Given the description of an element on the screen output the (x, y) to click on. 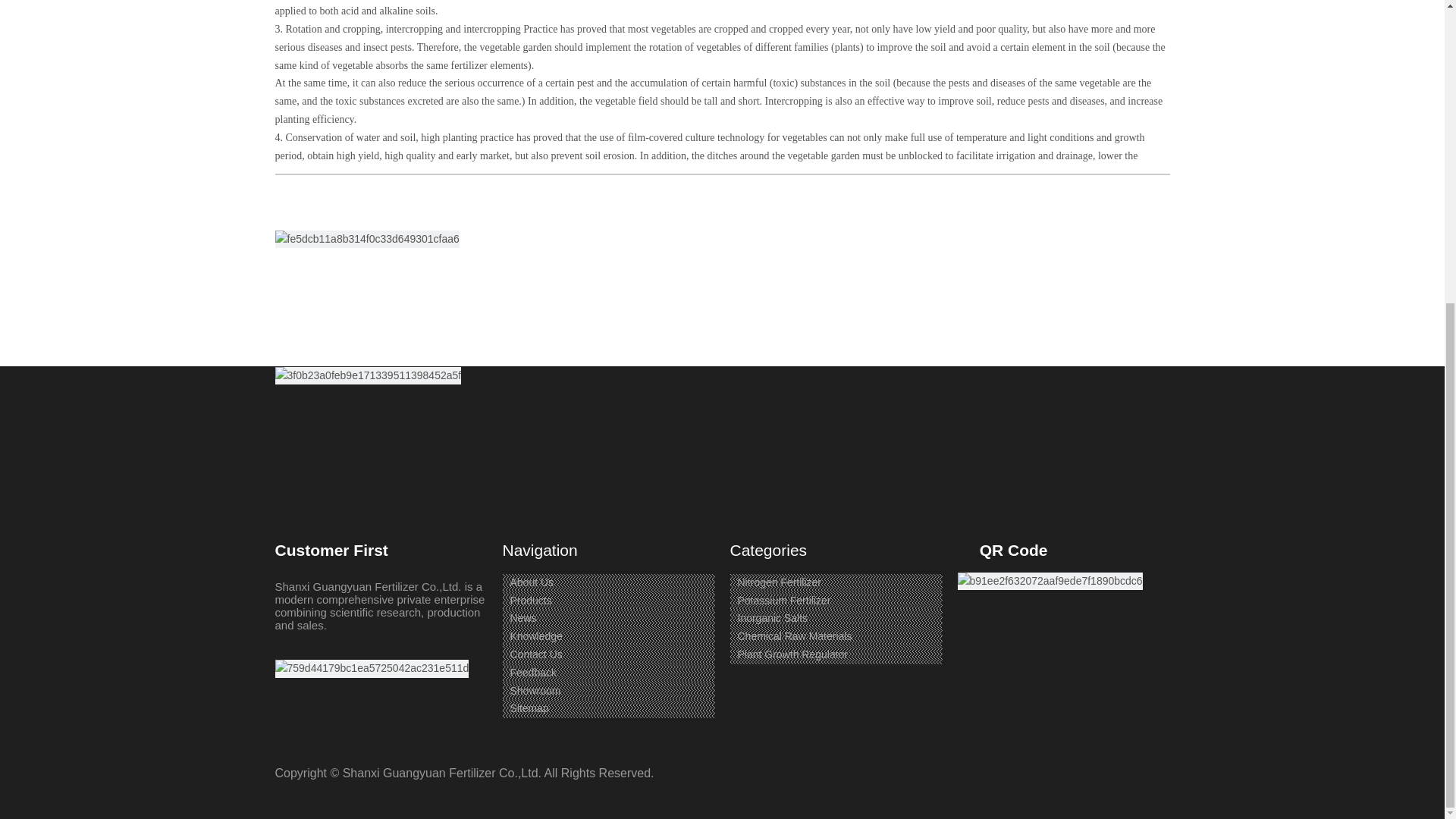
News (522, 617)
Potassium Fertilizer (782, 600)
Showroom (534, 690)
Knowledge (535, 635)
About Us (531, 582)
Plant Growth Regulator (791, 654)
fe5dcb11a8b314f0c33d649301cfaa6 (366, 239)
Feedback (532, 672)
Potassium Fertilizer (782, 600)
Facebook (286, 217)
